Given the description of an element on the screen output the (x, y) to click on. 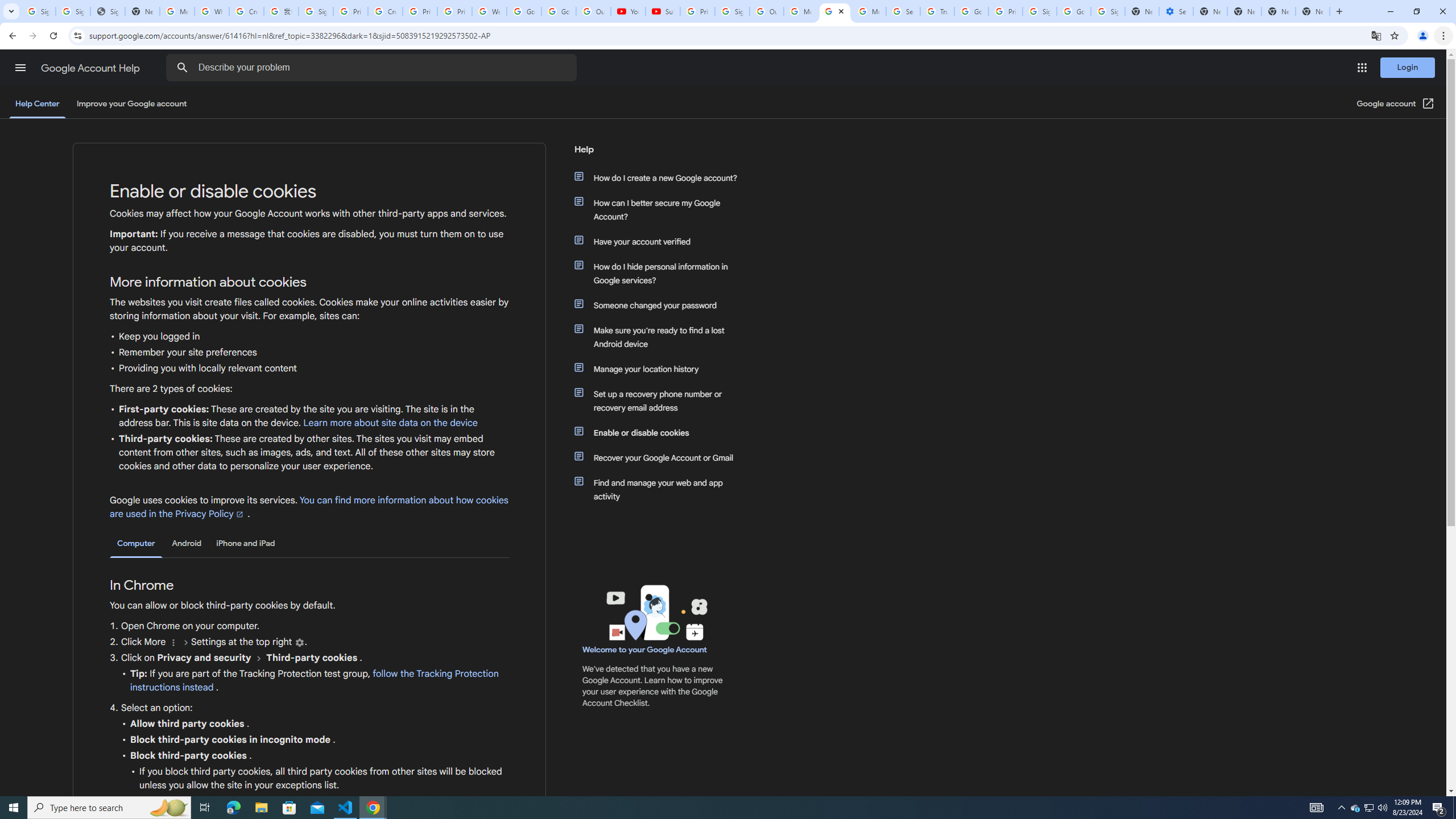
Subscriptions - YouTube (662, 11)
Enable or disable cookies (661, 432)
Login (1407, 67)
follow the Tracking Protection instructions instead (314, 680)
Recover your Google Account or Gmail (661, 457)
Set up a recovery phone number or recovery email address (661, 400)
Who is my administrator? - Google Account Help (211, 11)
YouTube (627, 11)
Welcome to your Google Account (644, 649)
Google Account Help (91, 68)
Google Ads - Sign in (970, 11)
